Given the description of an element on the screen output the (x, y) to click on. 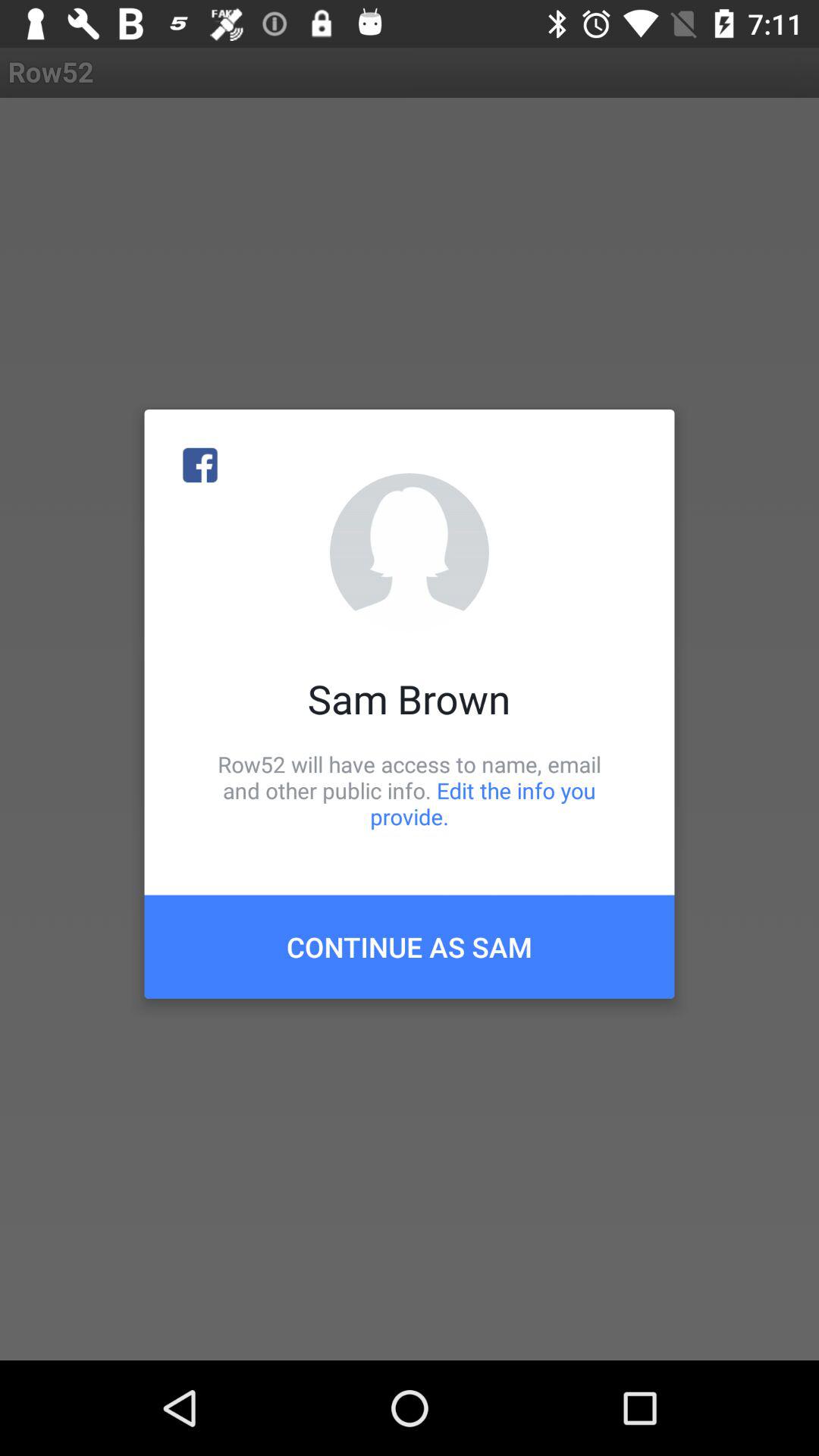
turn on continue as sam (409, 946)
